Given the description of an element on the screen output the (x, y) to click on. 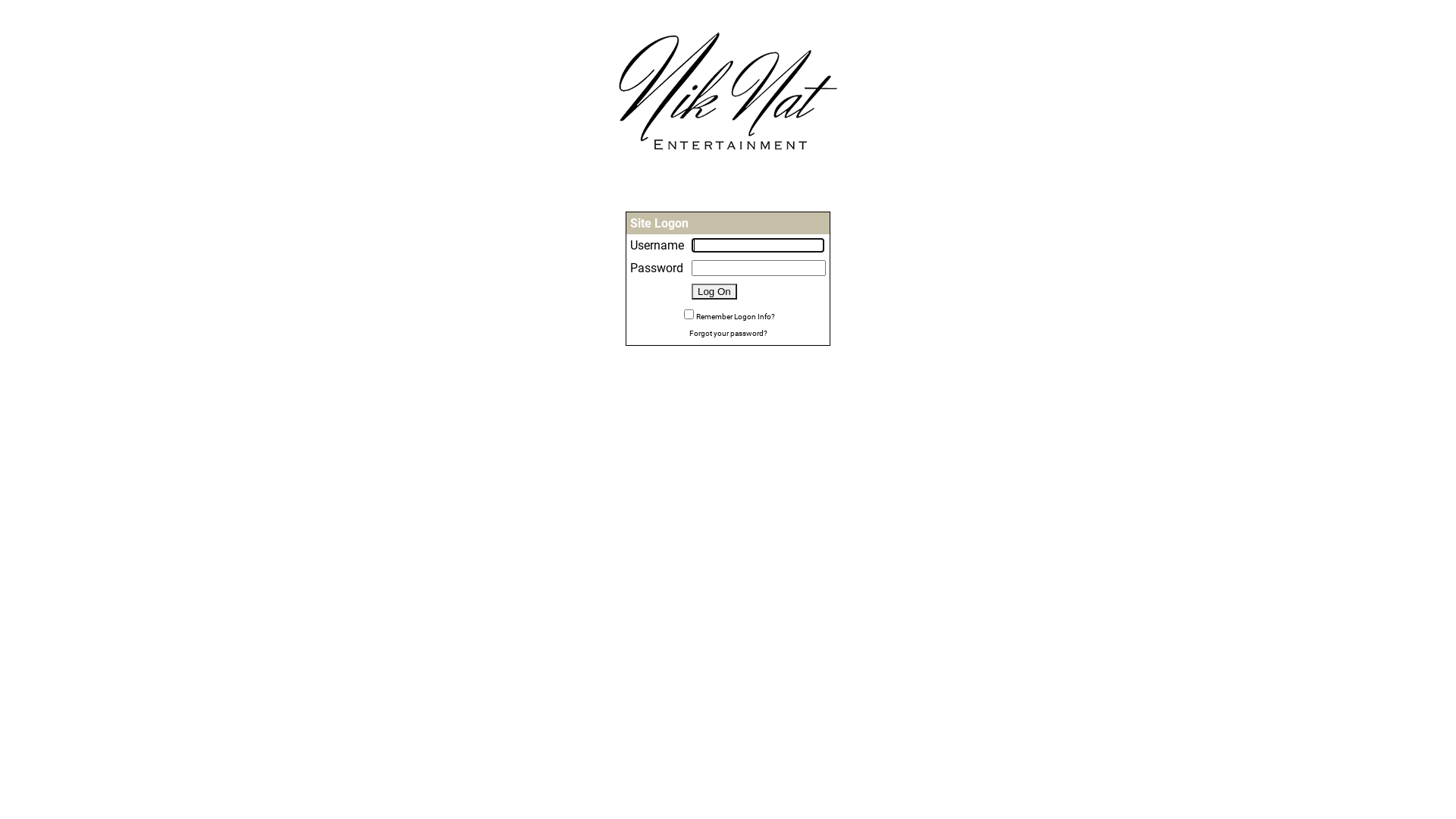
set_cookie Element type: text (688, 314)
Forgot your password? Element type: text (727, 331)
Log On Element type: text (714, 291)
